Given the description of an element on the screen output the (x, y) to click on. 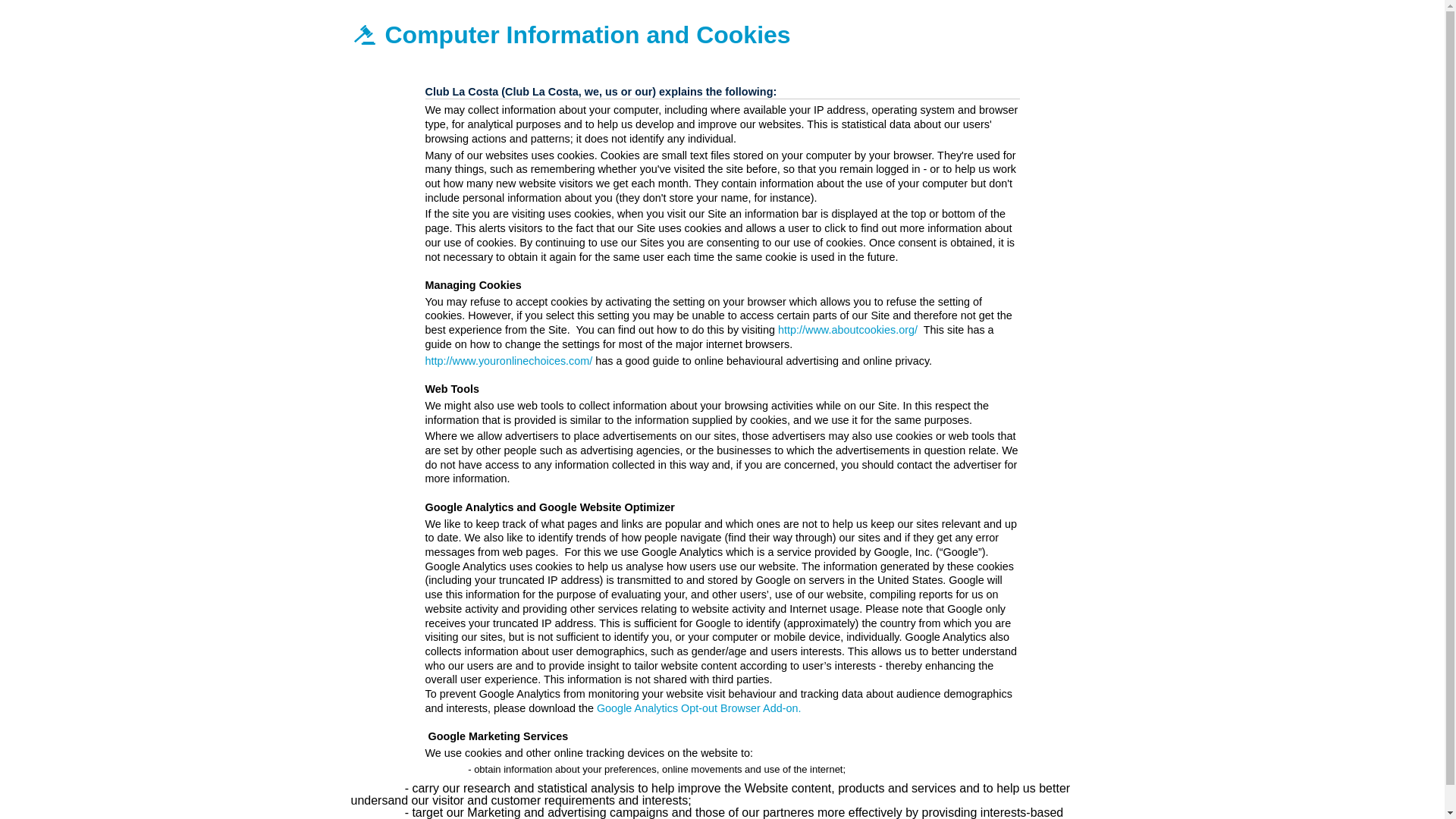
Google Analytics Opt-out Browser Add-on. (699, 707)
